Given the description of an element on the screen output the (x, y) to click on. 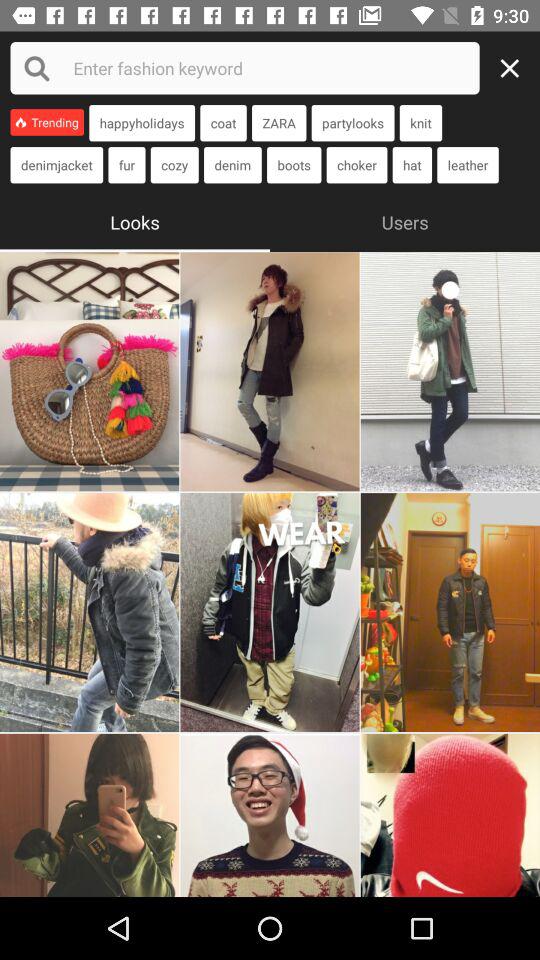
share the article (269, 612)
